Given the description of an element on the screen output the (x, y) to click on. 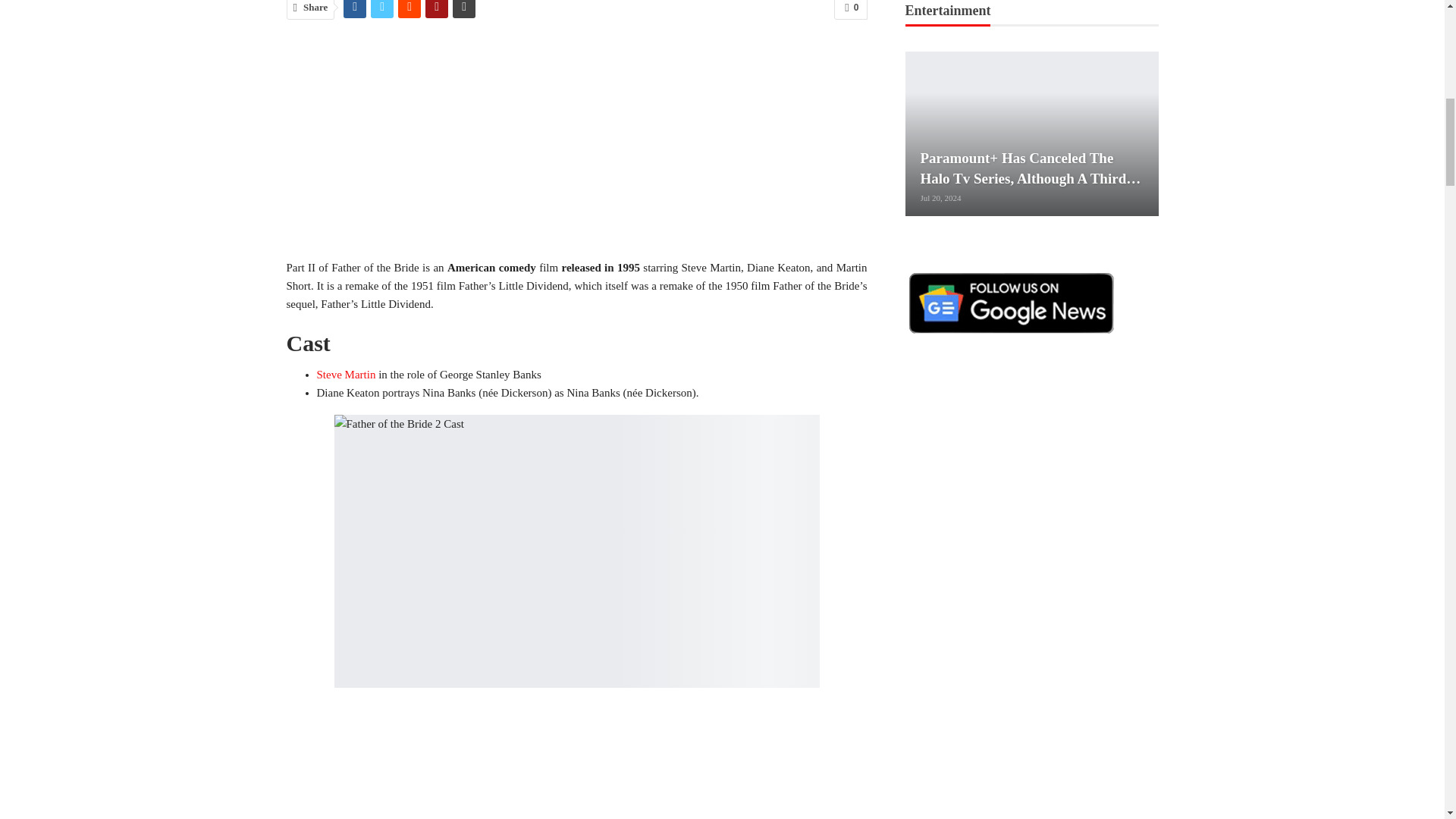
0 (850, 9)
Advertisement (576, 146)
Advertisement (576, 762)
Steve Martin (346, 374)
